Given the description of an element on the screen output the (x, y) to click on. 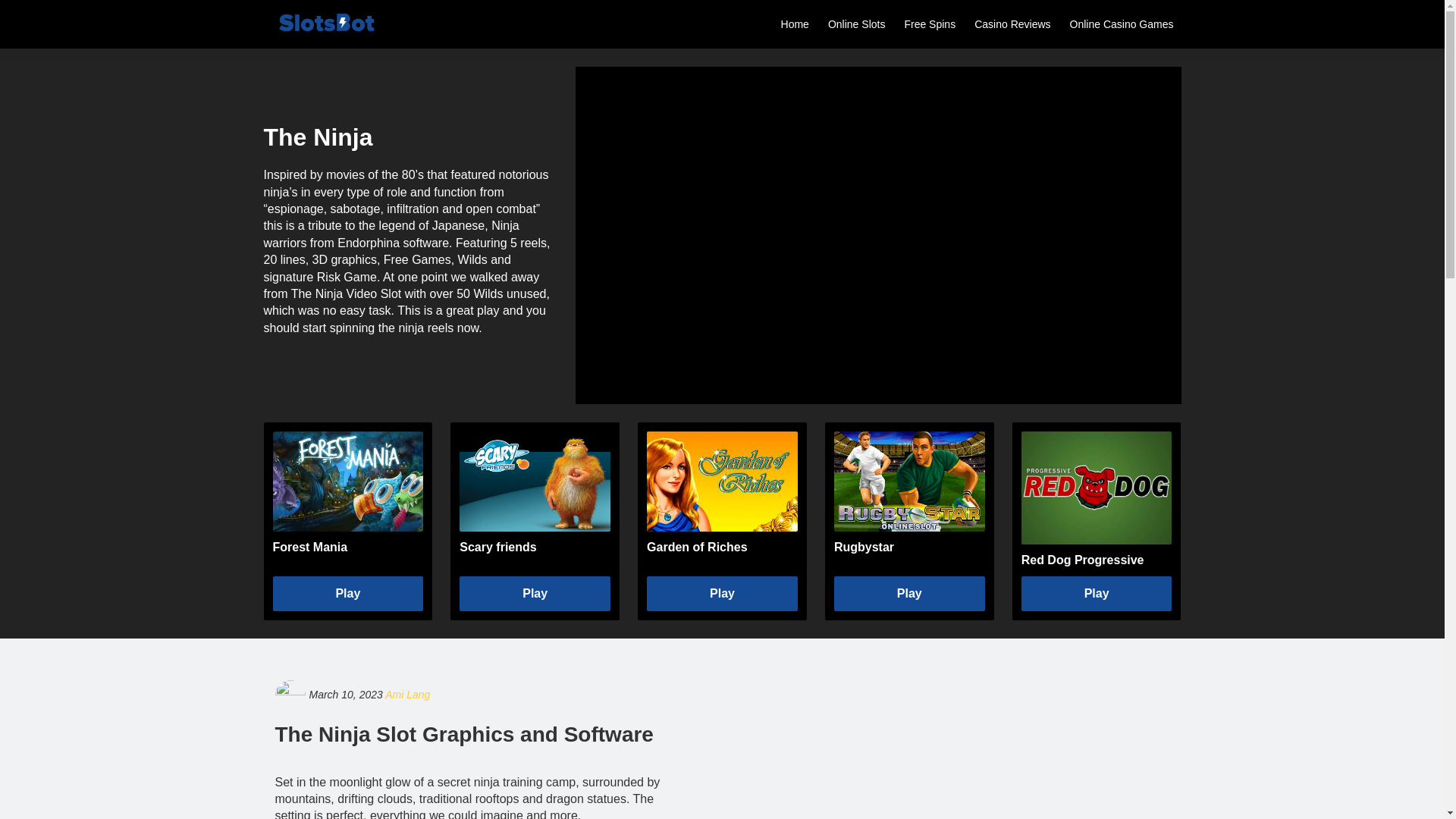
Home (794, 24)
Free Spins (929, 24)
Online Casino Games (1121, 24)
Online Slots (856, 24)
Casino Reviews (1012, 24)
